Given the description of an element on the screen output the (x, y) to click on. 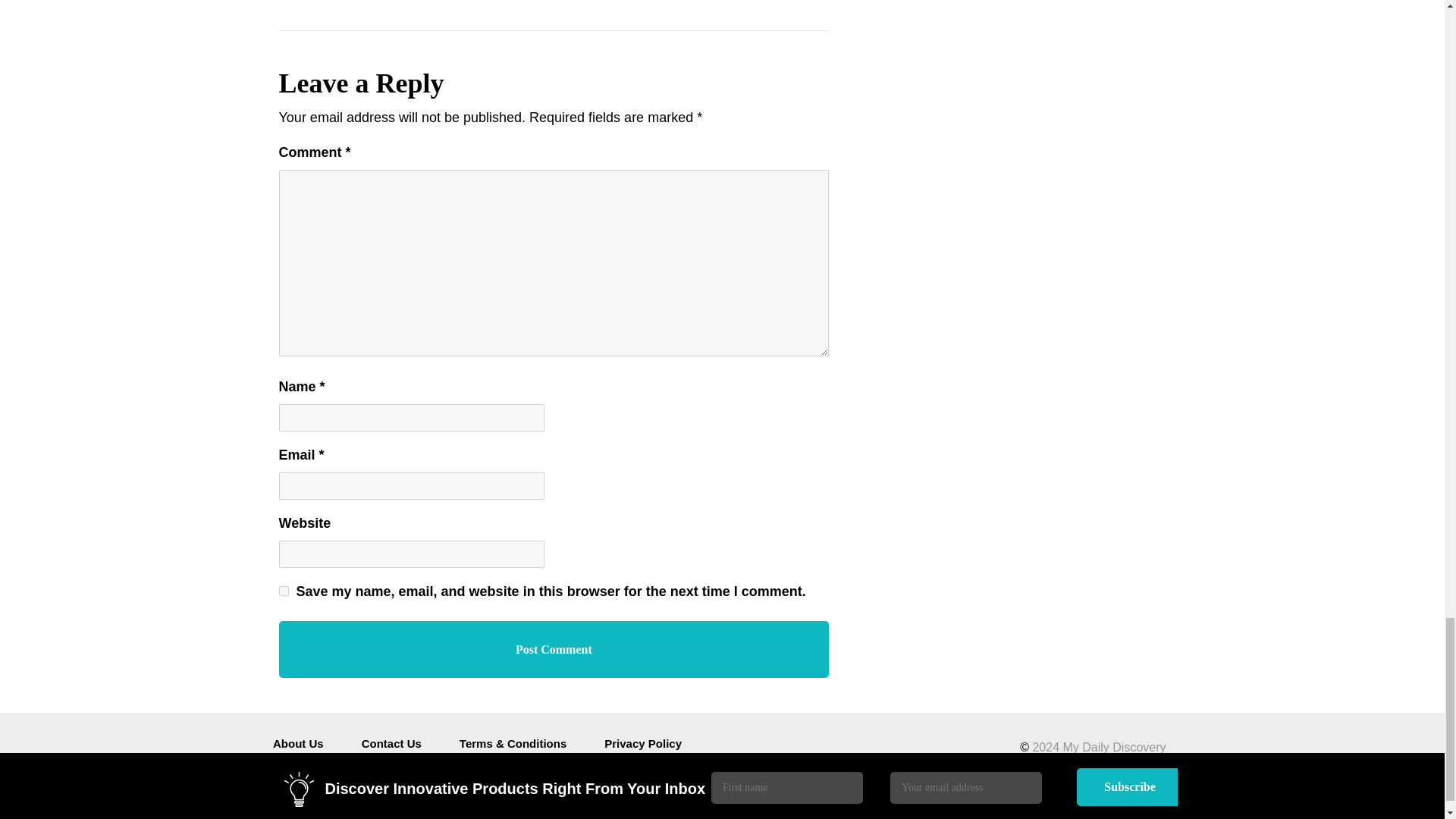
yes (283, 591)
Post Comment (554, 649)
Post Comment (554, 649)
